Given the description of an element on the screen output the (x, y) to click on. 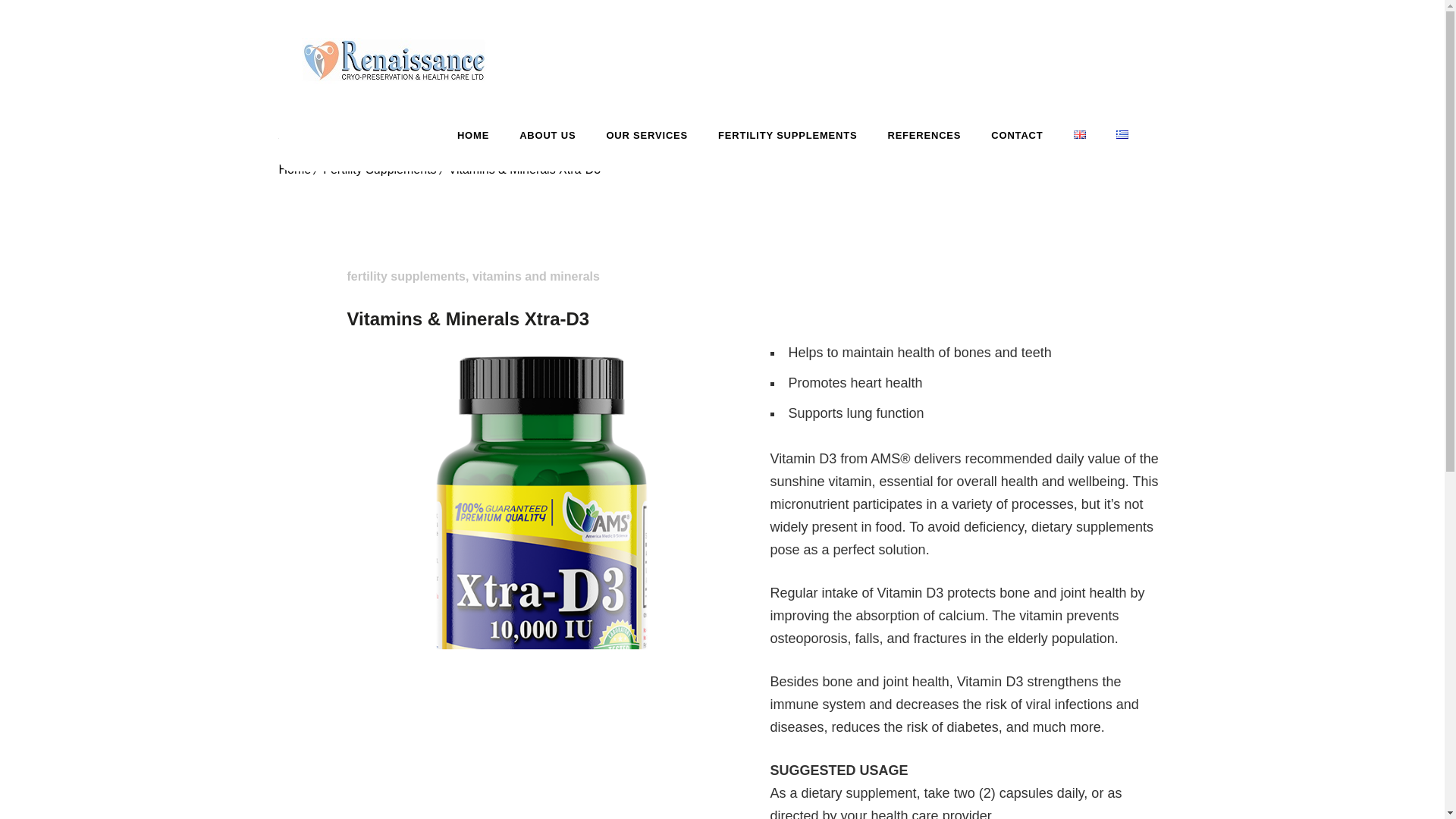
Home (295, 169)
CONTACT (1016, 134)
REFERENCES (923, 134)
ABOUT US (547, 134)
Fertility Supplements (379, 169)
OUR SERVICES (647, 134)
HOME (472, 134)
FERTILITY SUPPLEMENTS (787, 134)
